Given the description of an element on the screen output the (x, y) to click on. 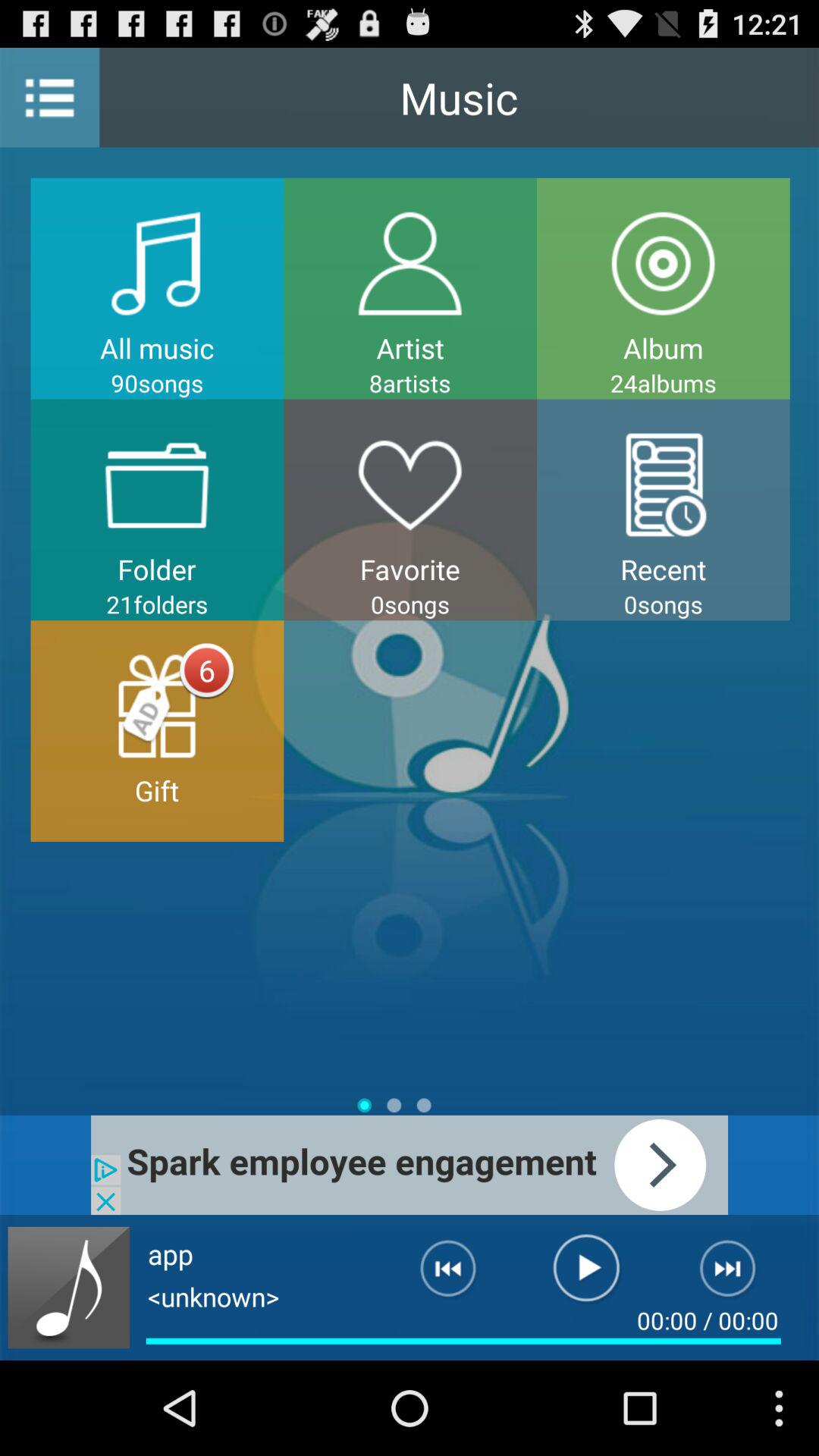
fast forward or go to next song (737, 1274)
